Given the description of an element on the screen output the (x, y) to click on. 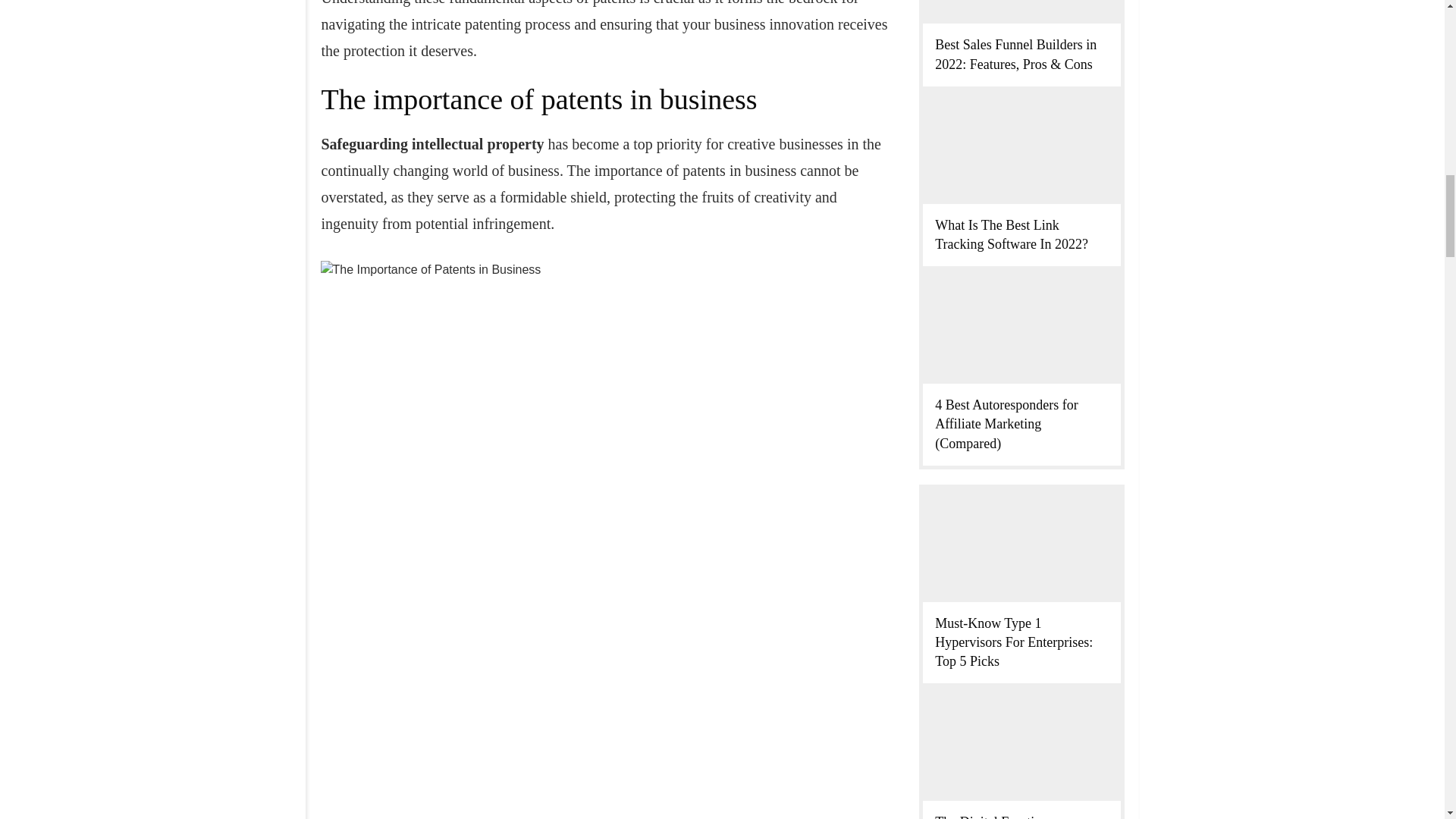
Must-Know Type 1 Hypervisors For Enterprises: Top 5 Picks (1013, 642)
What Is The Best Link Tracking Software In 2022? (1010, 234)
